Given the description of an element on the screen output the (x, y) to click on. 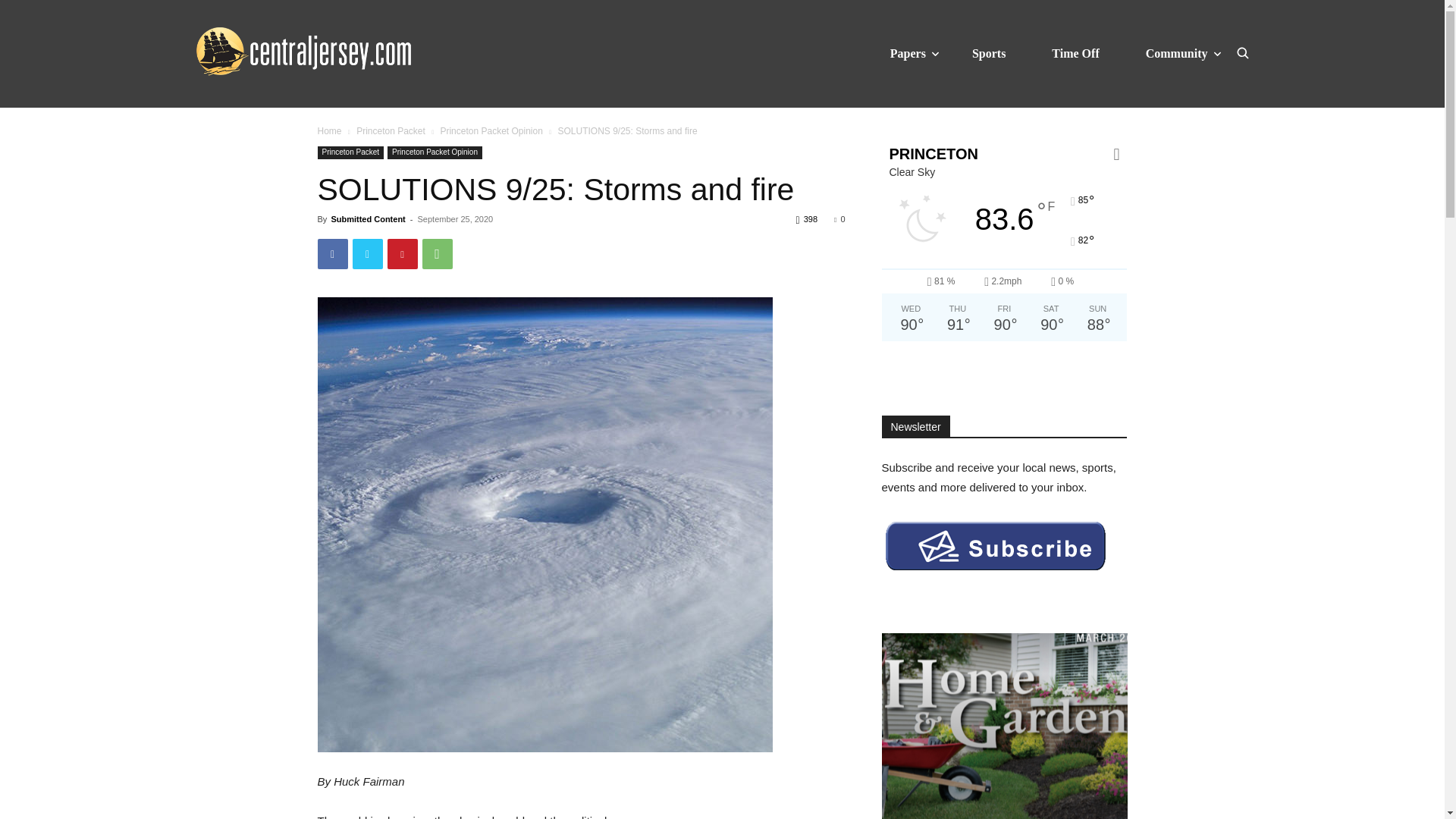
Facebook (332, 254)
Princeton Packet (350, 152)
Submitted Content (367, 218)
View all posts in Princeton Packet (390, 131)
View all posts in Princeton Packet Opinion (490, 131)
Community (1176, 52)
Sports (989, 52)
WhatsApp (436, 254)
Papers (907, 52)
Home (328, 131)
Time Off (1075, 52)
0 (839, 218)
Princeton Packet Opinion (490, 131)
Twitter (366, 254)
Pinterest (401, 254)
